Given the description of an element on the screen output the (x, y) to click on. 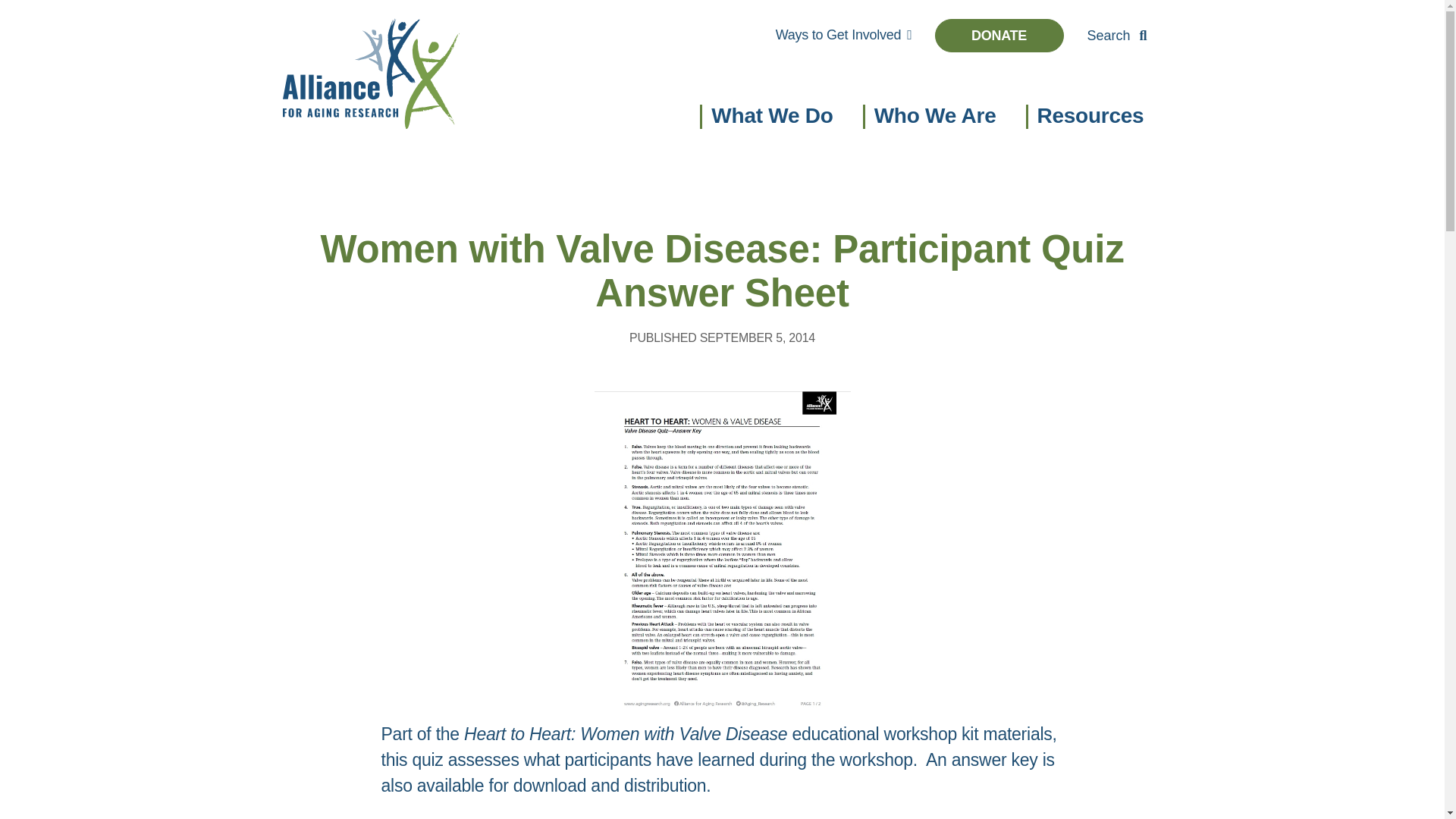
What We Do (772, 118)
Resources (1093, 118)
Search (1116, 35)
Who We Are (935, 118)
DONATE (998, 35)
Ways to Get Involved (843, 34)
